Given the description of an element on the screen output the (x, y) to click on. 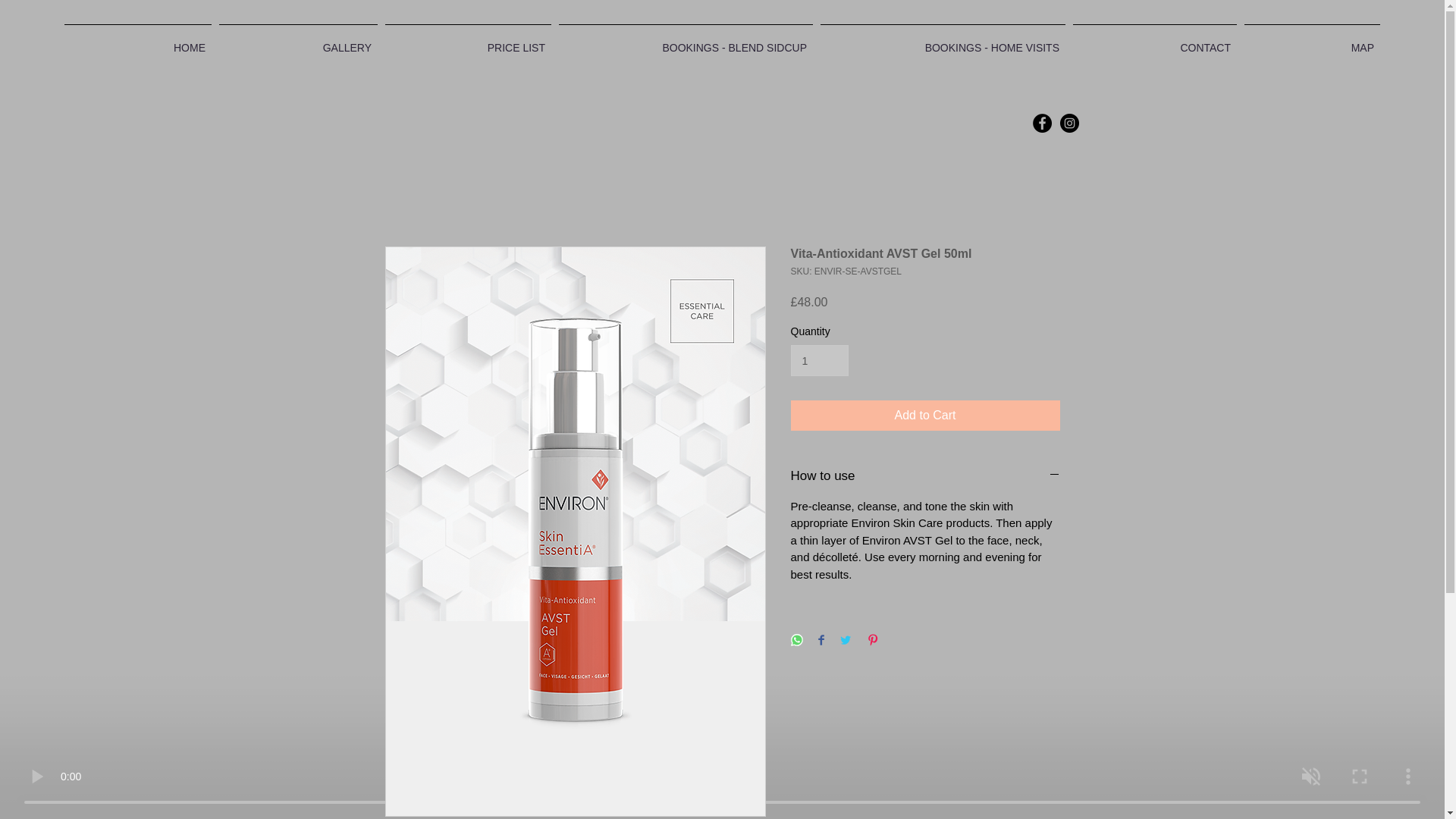
PRICE LIST (467, 41)
BOOKINGS - BLEND SIDCUP (685, 41)
1 (818, 359)
HOME (138, 41)
Add to Cart (924, 415)
BOOKINGS - HOME VISITS (942, 41)
MAP (1312, 41)
CONTACT (1154, 41)
How to use (924, 475)
GALLERY (298, 41)
